Given the description of an element on the screen output the (x, y) to click on. 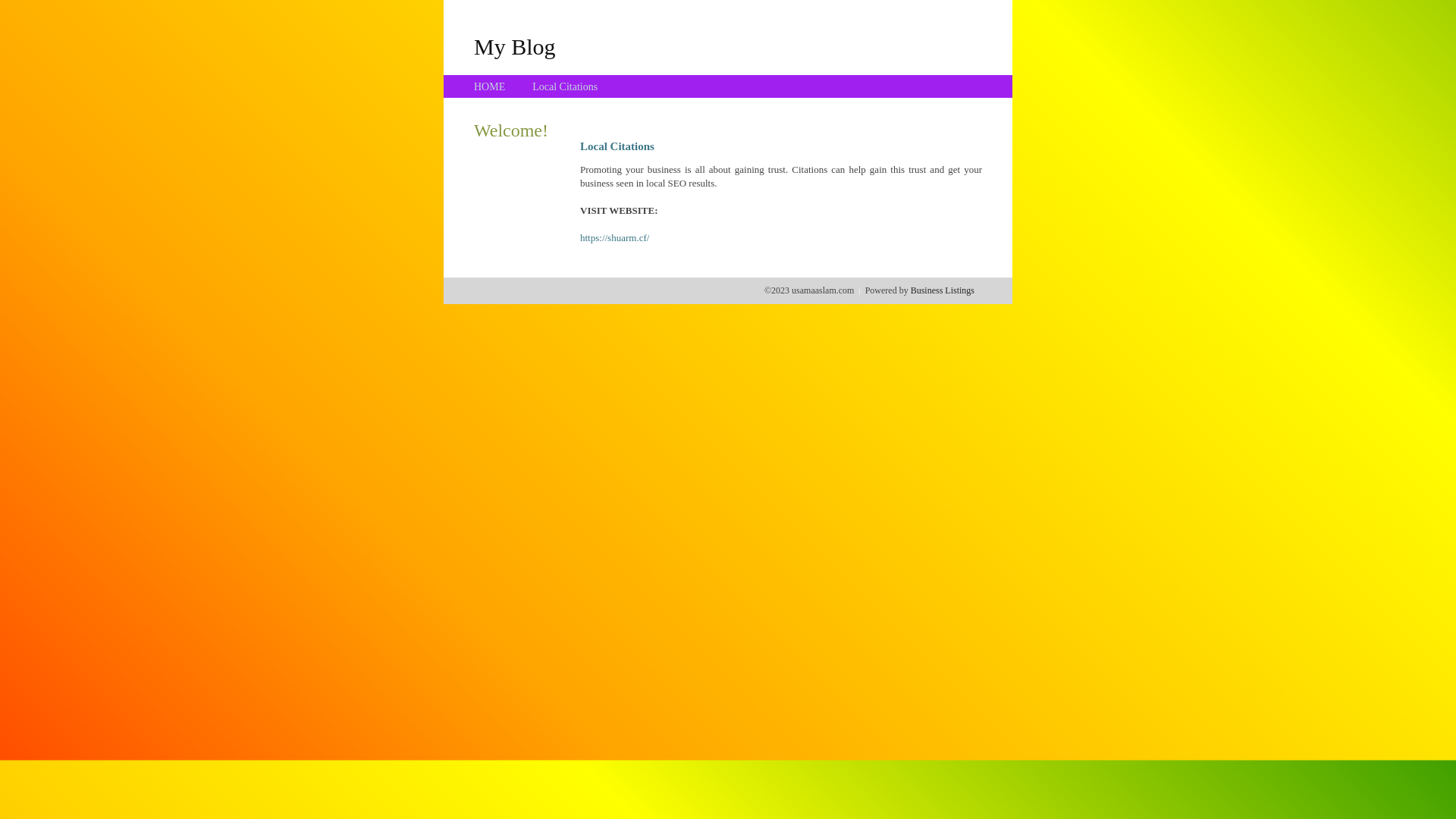
Business Listings Element type: text (942, 290)
Local Citations Element type: text (564, 86)
My Blog Element type: text (514, 46)
https://shuarm.cf/ Element type: text (614, 237)
HOME Element type: text (489, 86)
